Given the description of an element on the screen output the (x, y) to click on. 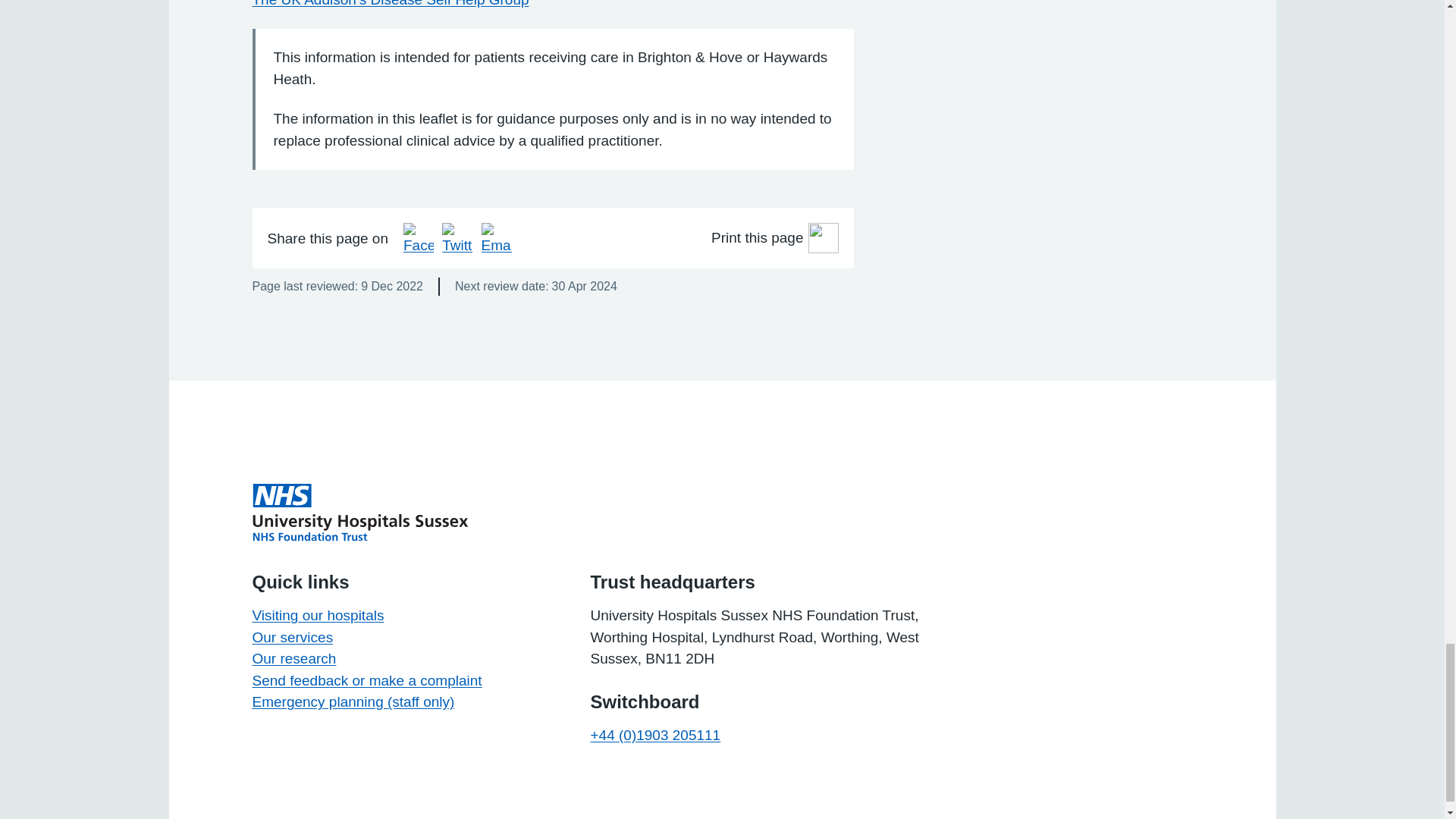
Share on Facebook (418, 237)
Excellence as our standard (359, 512)
Share via Email (496, 237)
Share on Twitter (456, 237)
